Given the description of an element on the screen output the (x, y) to click on. 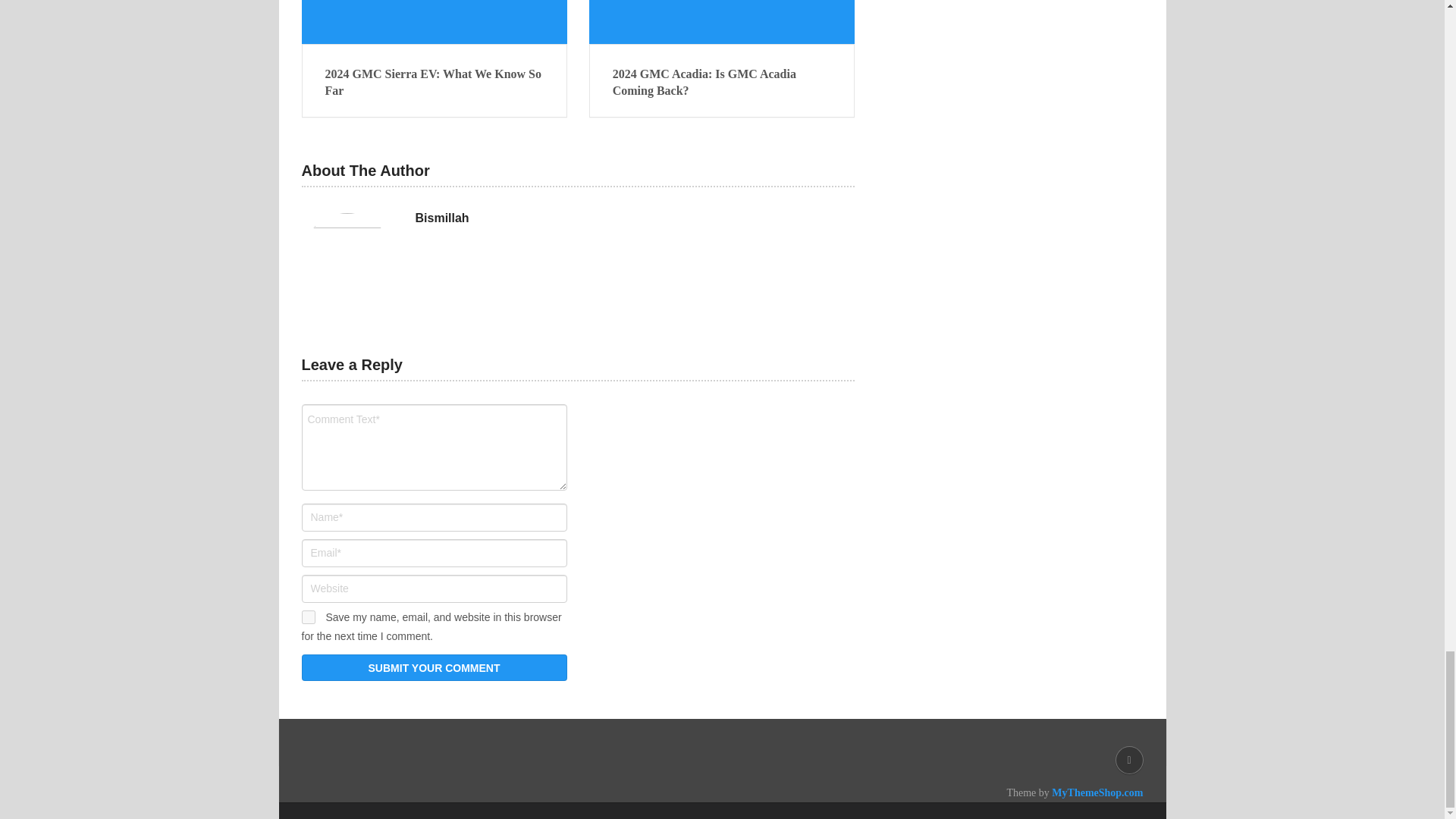
2024 GMC Acadia: Is GMC Acadia Coming Back? (721, 22)
2024 GMC Sierra EV: What We Know So Far (433, 82)
2024 GMC Acadia: Is GMC Acadia Coming Back? (721, 82)
Submit Your Comment (434, 667)
2024 GMC Sierra EV: What We Know So Far (434, 22)
yes (308, 617)
